Given the description of an element on the screen output the (x, y) to click on. 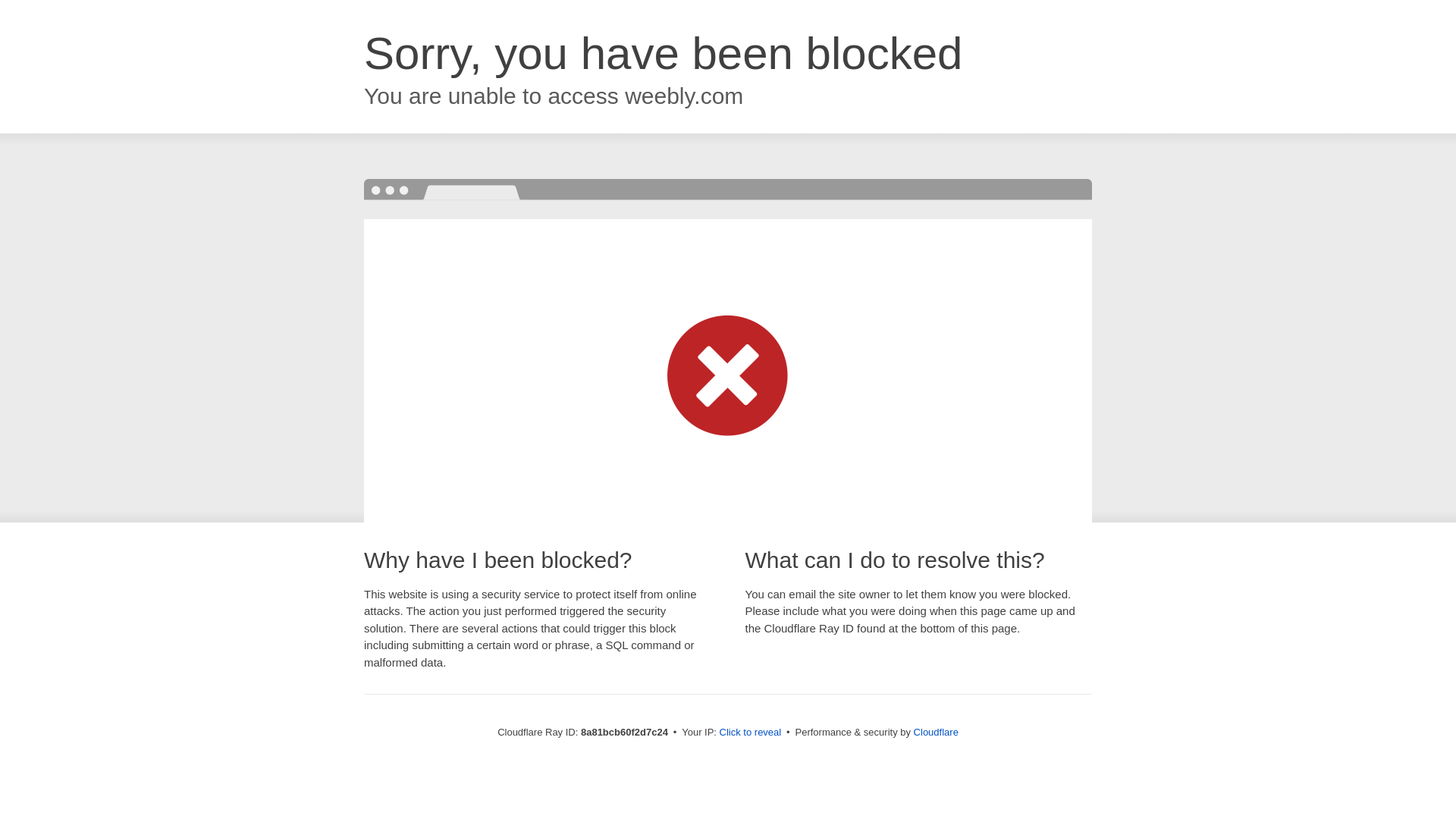
Click to reveal (750, 732)
Cloudflare (936, 731)
